Given the description of an element on the screen output the (x, y) to click on. 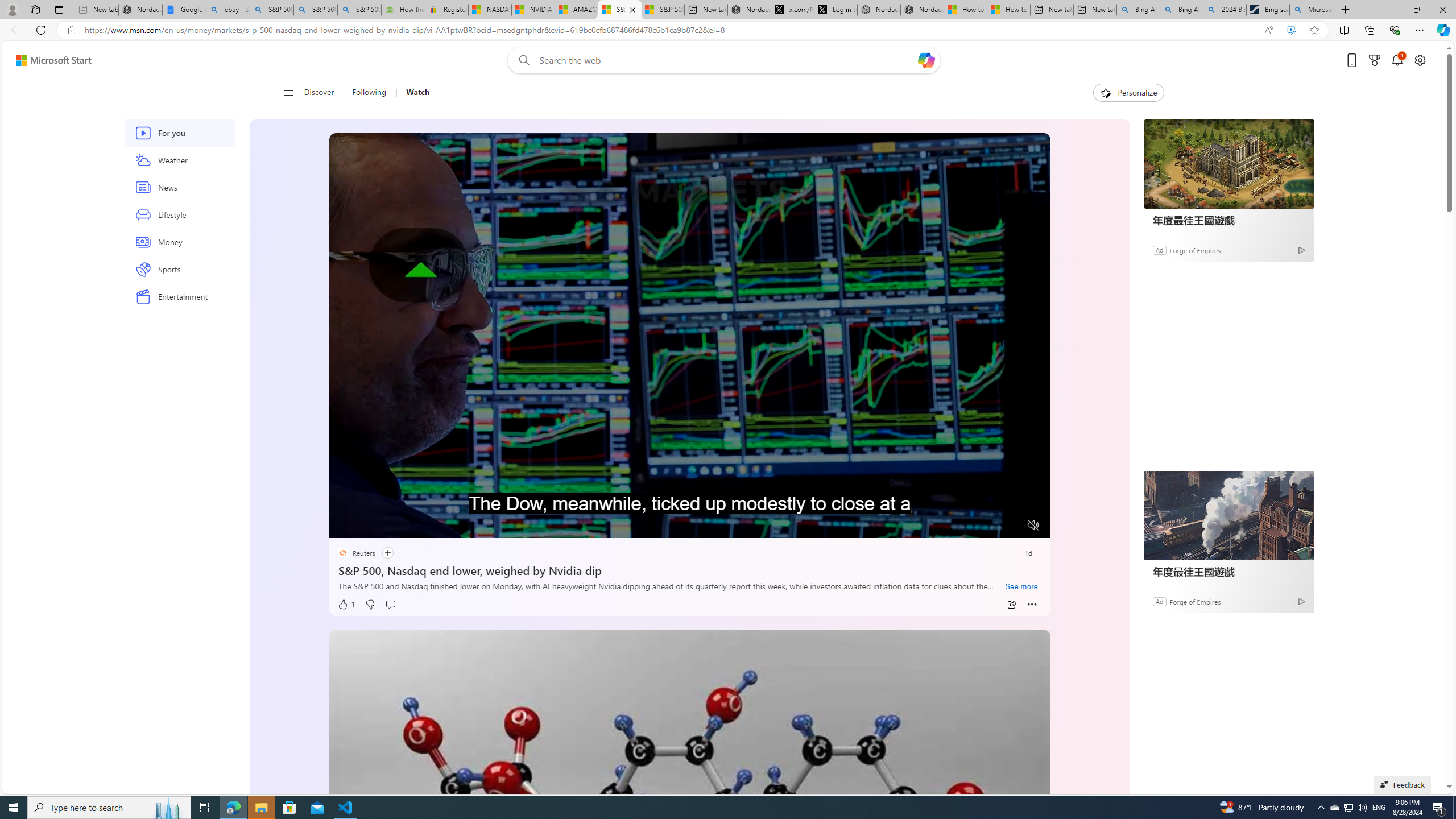
Enhance video (1291, 29)
Captions (988, 525)
Watch (417, 92)
Bing AI - Search (1181, 9)
Close (1442, 9)
Tab actions menu (58, 9)
ebay - Search (227, 9)
Start the conversation (390, 604)
Notifications (1397, 60)
More (1031, 604)
S&P 500 index financial crisis decline - Search (359, 9)
Dislike (369, 604)
Ad Choice (1300, 601)
1 Like (345, 604)
